Given the description of an element on the screen output the (x, y) to click on. 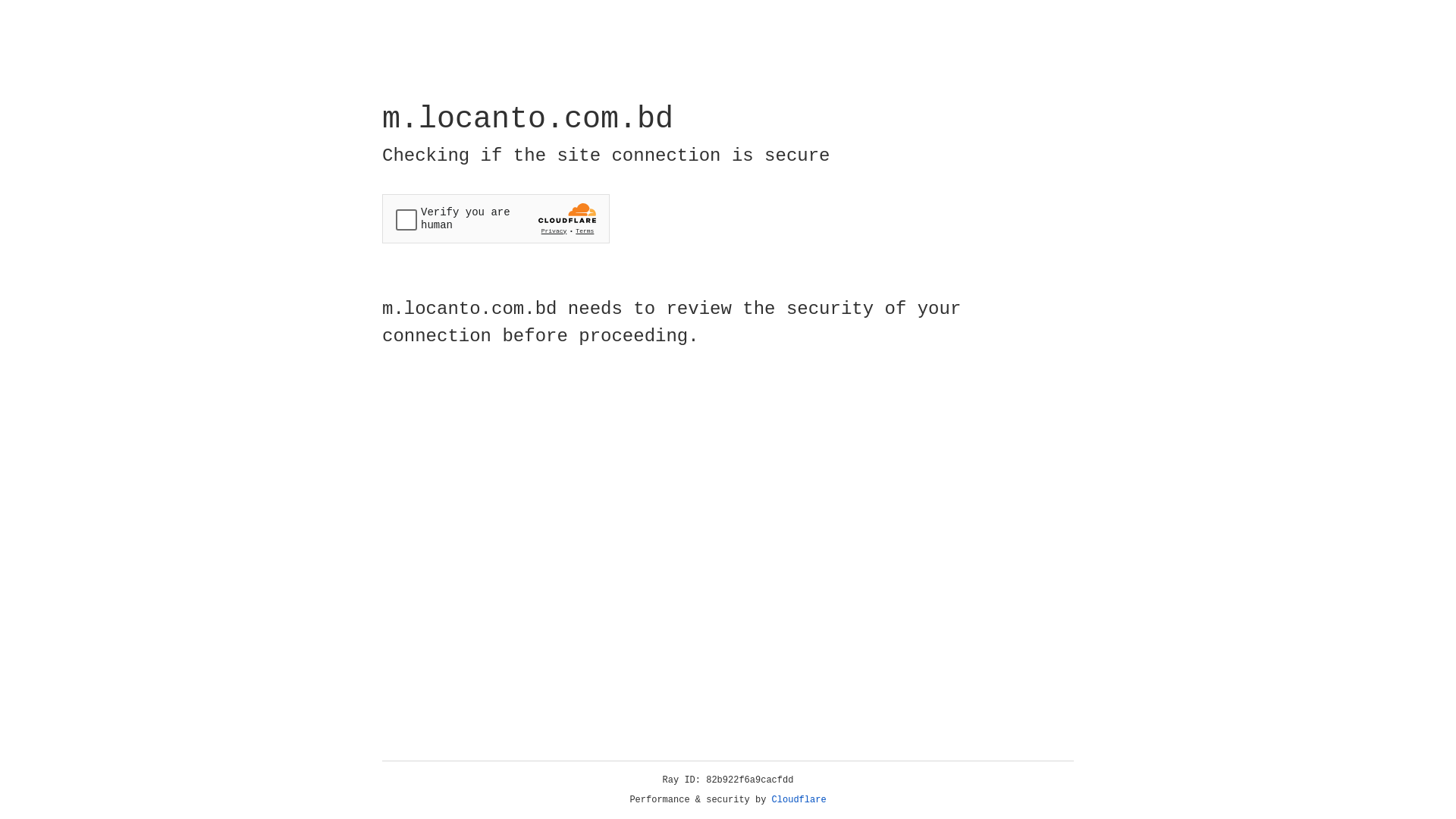
Cloudflare Element type: text (798, 799)
Widget containing a Cloudflare security challenge Element type: hover (495, 218)
